Given the description of an element on the screen output the (x, y) to click on. 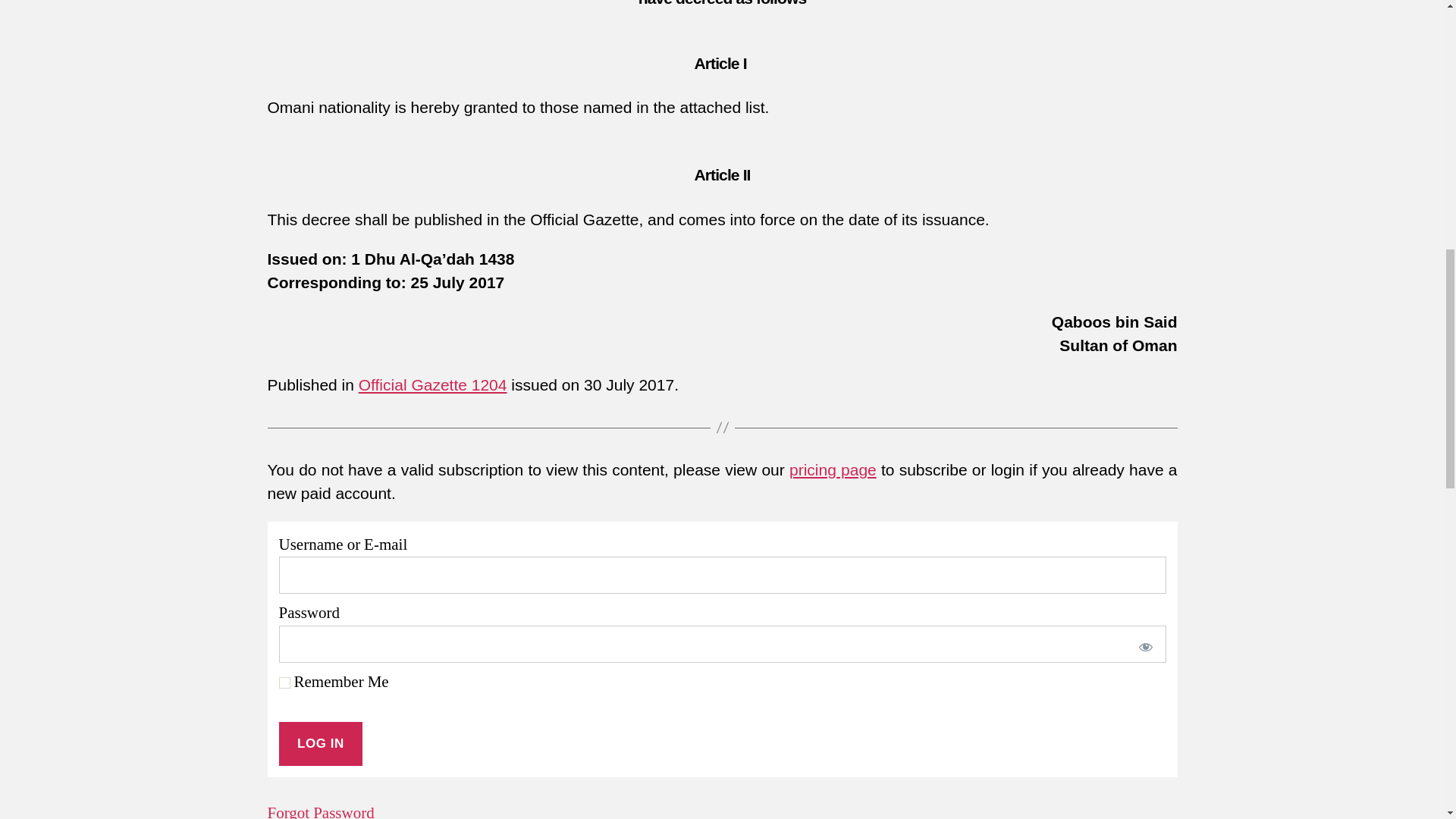
Log In (320, 743)
forever (284, 681)
